Given the description of an element on the screen output the (x, y) to click on. 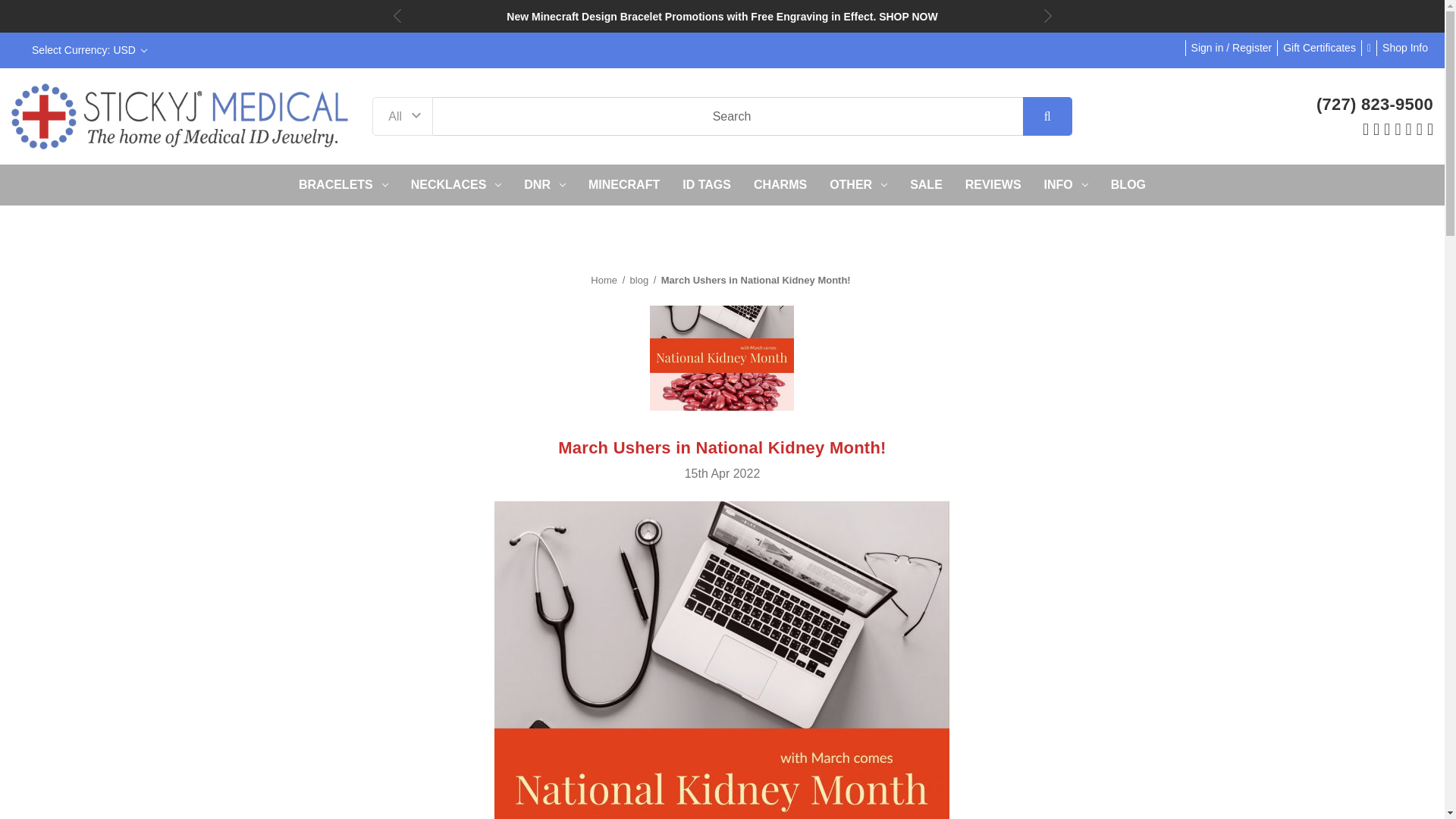
Select Currency: USD (88, 49)
StickyJ Medical ID (180, 115)
Gift Certificates (1319, 47)
Shop Info (1404, 47)
Go (1047, 116)
SHOP NOW (908, 16)
BRACELETS (342, 184)
March Ushers in National Kidney Month! (721, 358)
